Given the description of an element on the screen output the (x, y) to click on. 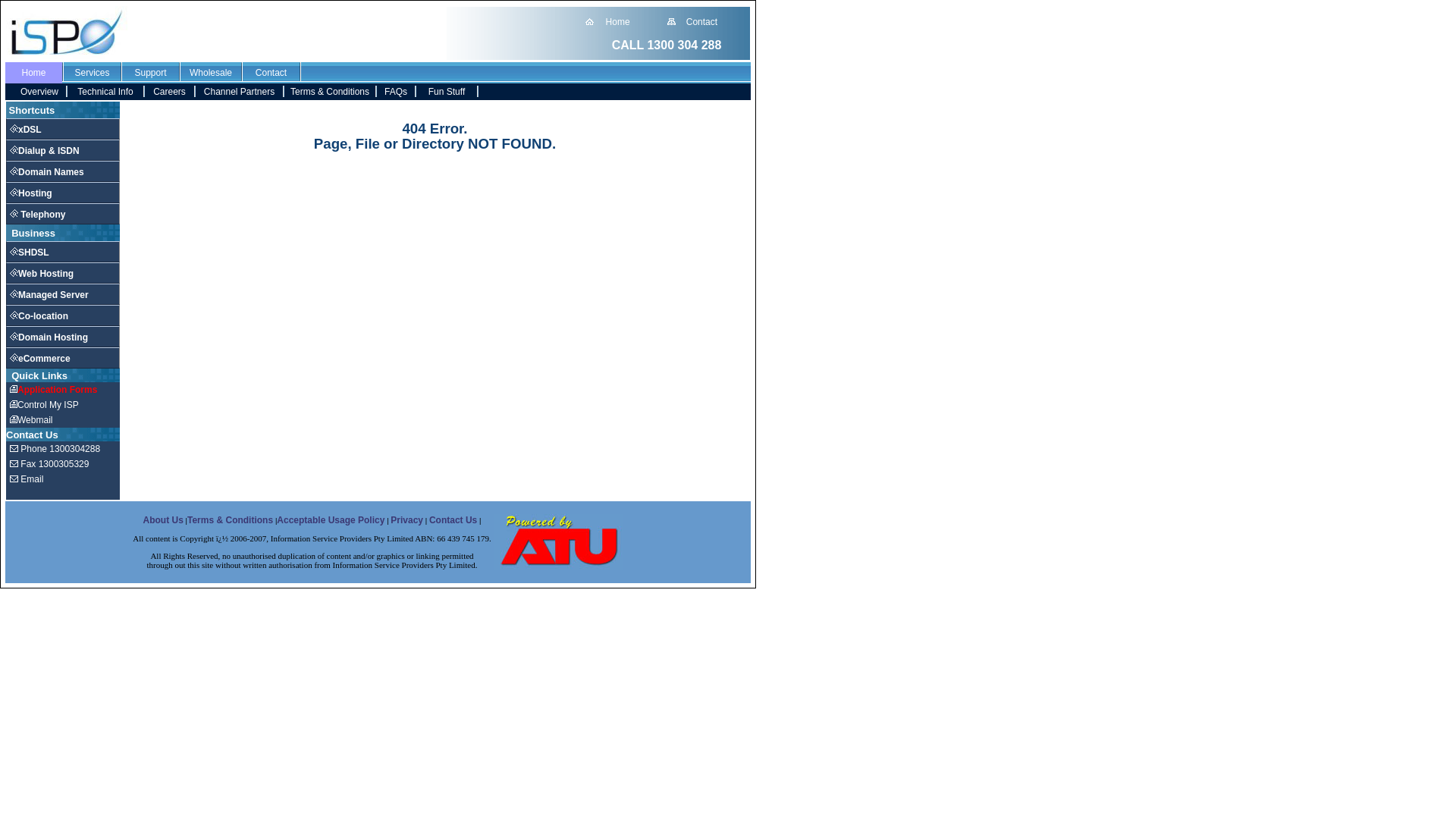
Web Hosting Element type: text (41, 273)
 Fax 1300305329 Element type: text (48, 463)
Support Element type: text (150, 72)
Home Element type: text (617, 21)
Overview Element type: text (39, 91)
Careers Element type: text (169, 91)
Hosting Element type: text (30, 193)
Domain Hosting Element type: text (48, 337)
xDSL Element type: text (25, 129)
Technical Info Element type: text (104, 91)
FAQs Element type: text (395, 91)
Home Element type: text (33, 72)
Contact Us Element type: text (452, 519)
Domain Names Element type: text (46, 171)
Privacy Element type: text (406, 519)
Webmail Element type: text (30, 419)
 Phone 1300304288 Element type: text (54, 448)
Services Element type: text (91, 72)
SHDSL Element type: text (29, 252)
Terms & Conditions Element type: text (329, 91)
Co-location Element type: text (38, 315)
Application Forms Element type: text (53, 389)
Channel Partners Element type: text (238, 91)
About Us Element type: text (162, 519)
Contact Element type: text (270, 72)
Managed Server Element type: text (48, 294)
Terms & Conditions Element type: text (230, 519)
Acceptable Usage Policy Element type: text (330, 519)
Dialup & ISDN Element type: text (44, 150)
Control My ISP Element type: text (43, 404)
Contact Element type: text (701, 21)
 Email Element type: text (26, 478)
Wholesale Element type: text (210, 72)
eCommerce Element type: text (39, 358)
Telephony Element type: text (37, 214)
Fun Stuff Element type: text (446, 91)
